Given the description of an element on the screen output the (x, y) to click on. 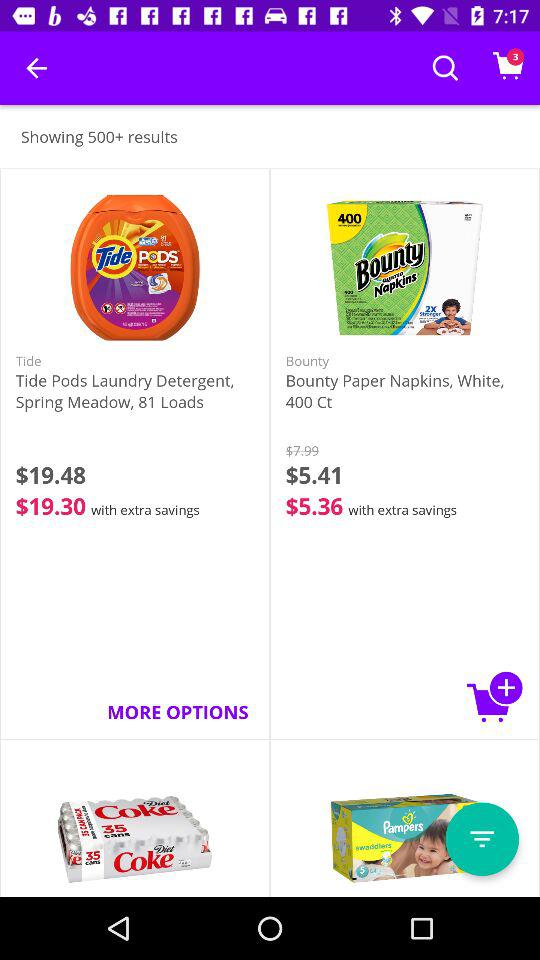
filter selected product (482, 839)
